Given the description of an element on the screen output the (x, y) to click on. 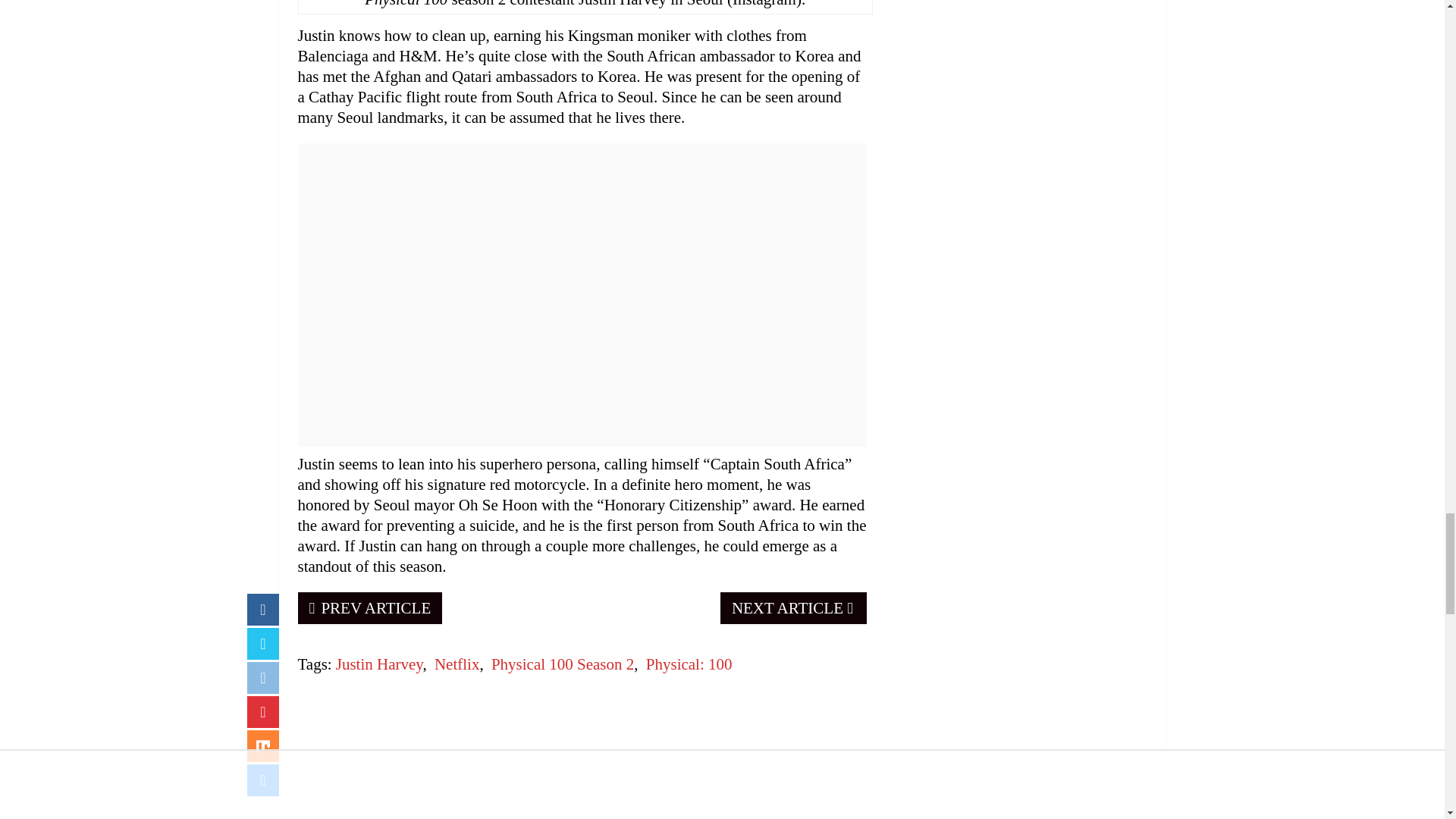
Physical: 100 (689, 664)
Netflix (456, 664)
Physical 100 Season 2 (562, 664)
NEXT ARTICLE (793, 608)
PREV ARTICLE (369, 608)
Justin Harvey (379, 664)
